Given the description of an element on the screen output the (x, y) to click on. 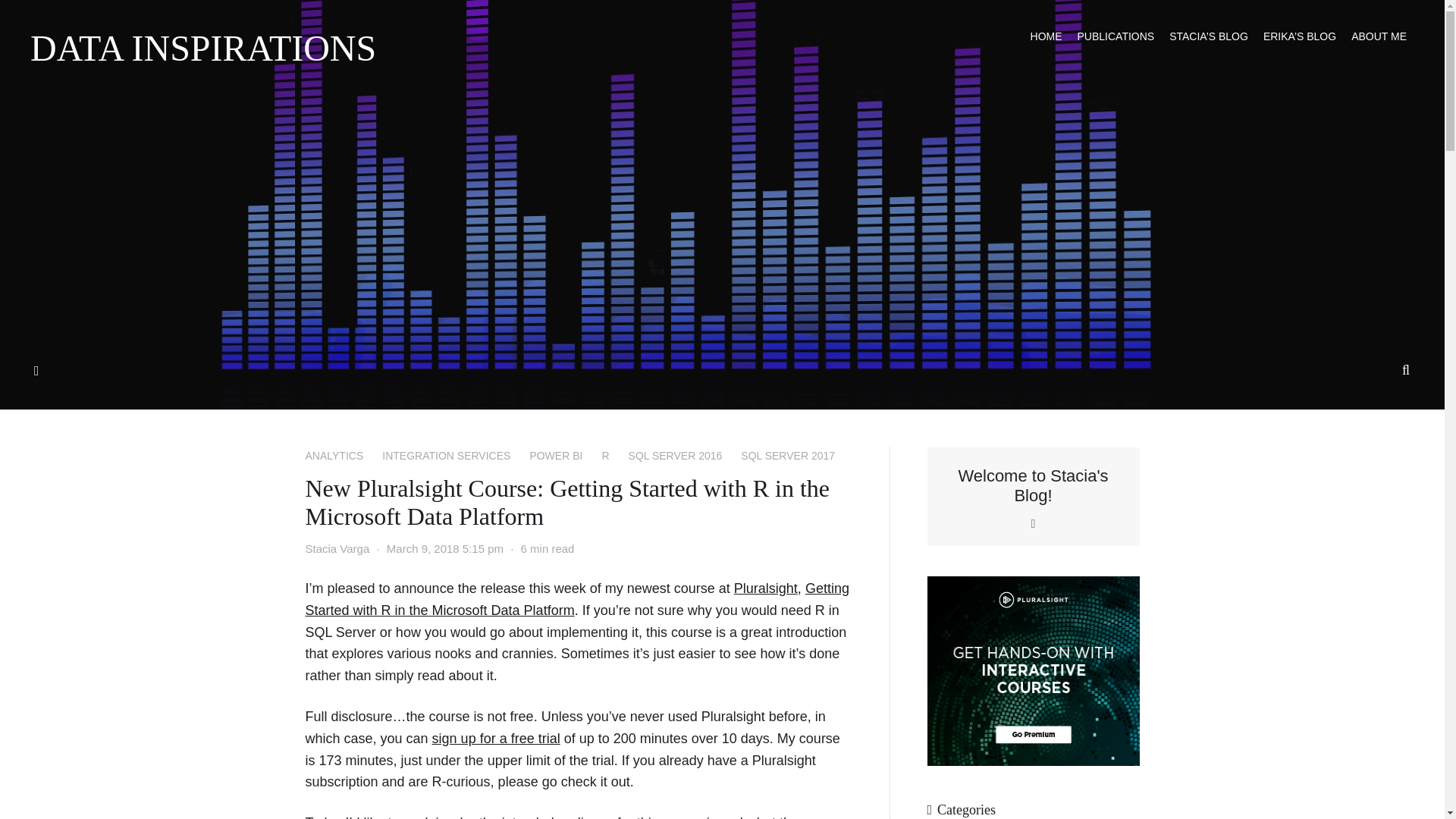
Getting Started with R in the Microsoft Data Platform (576, 599)
INTEGRATION SERVICES (446, 455)
HOME (1046, 36)
Stacia Varga (336, 548)
ABOUT ME (1378, 36)
March 9, 2018 5:15 pm (445, 548)
ANALYTICS (333, 455)
DATA INSPIRATIONS (202, 48)
SQL SERVER 2016 (675, 455)
sign up for a free trial (496, 738)
Pluralsight (765, 588)
Posts by Stacia Varga (336, 548)
PUBLICATIONS (1115, 36)
SQL SERVER 2017 (787, 455)
